Given the description of an element on the screen output the (x, y) to click on. 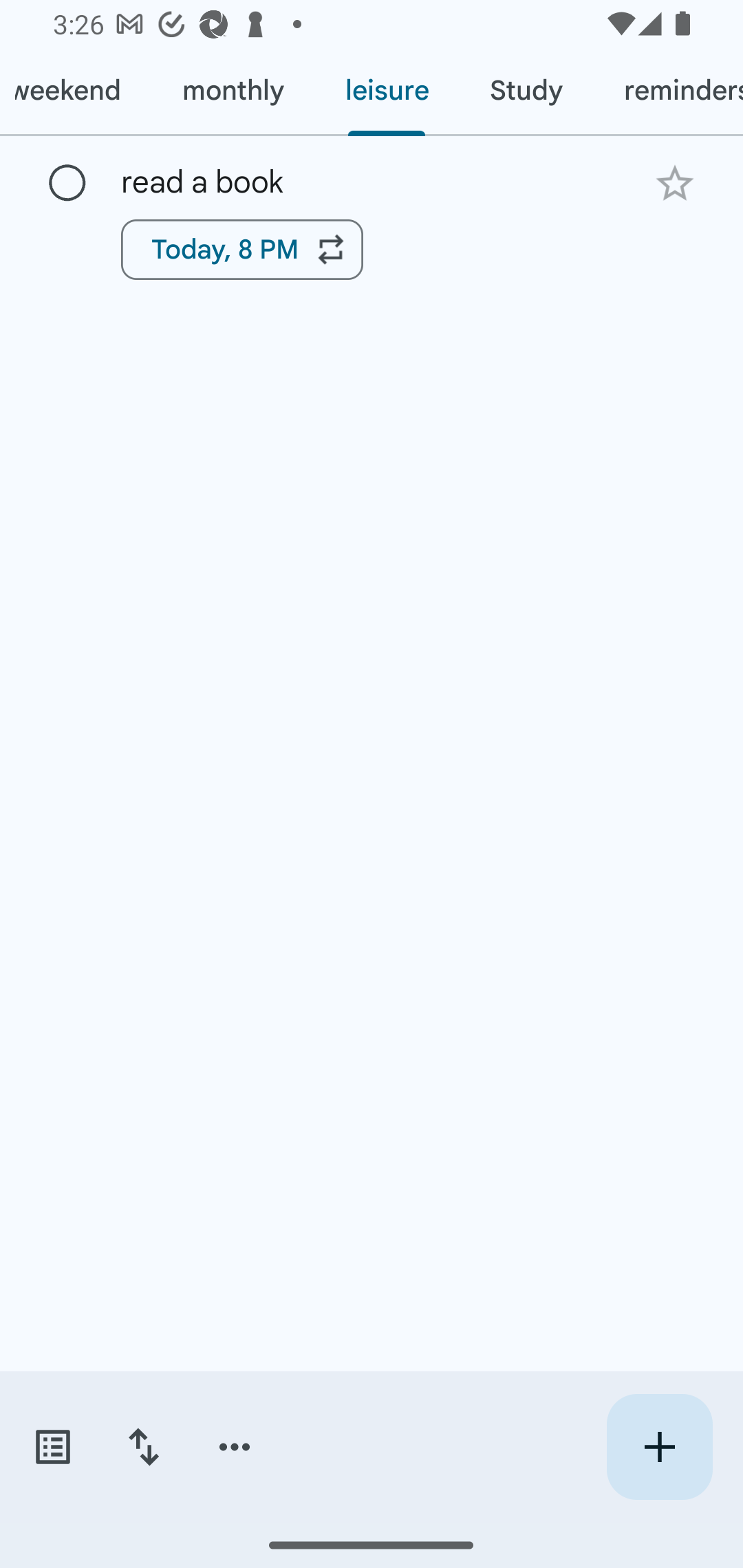
weekend (75, 90)
monthly (232, 90)
Study (525, 90)
reminders (667, 90)
Add star (674, 182)
Mark as complete (67, 183)
Today, 8 PM (242, 248)
Switch task lists (52, 1447)
Create new task (659, 1446)
Change sort order (143, 1446)
More options (234, 1446)
